Given the description of an element on the screen output the (x, y) to click on. 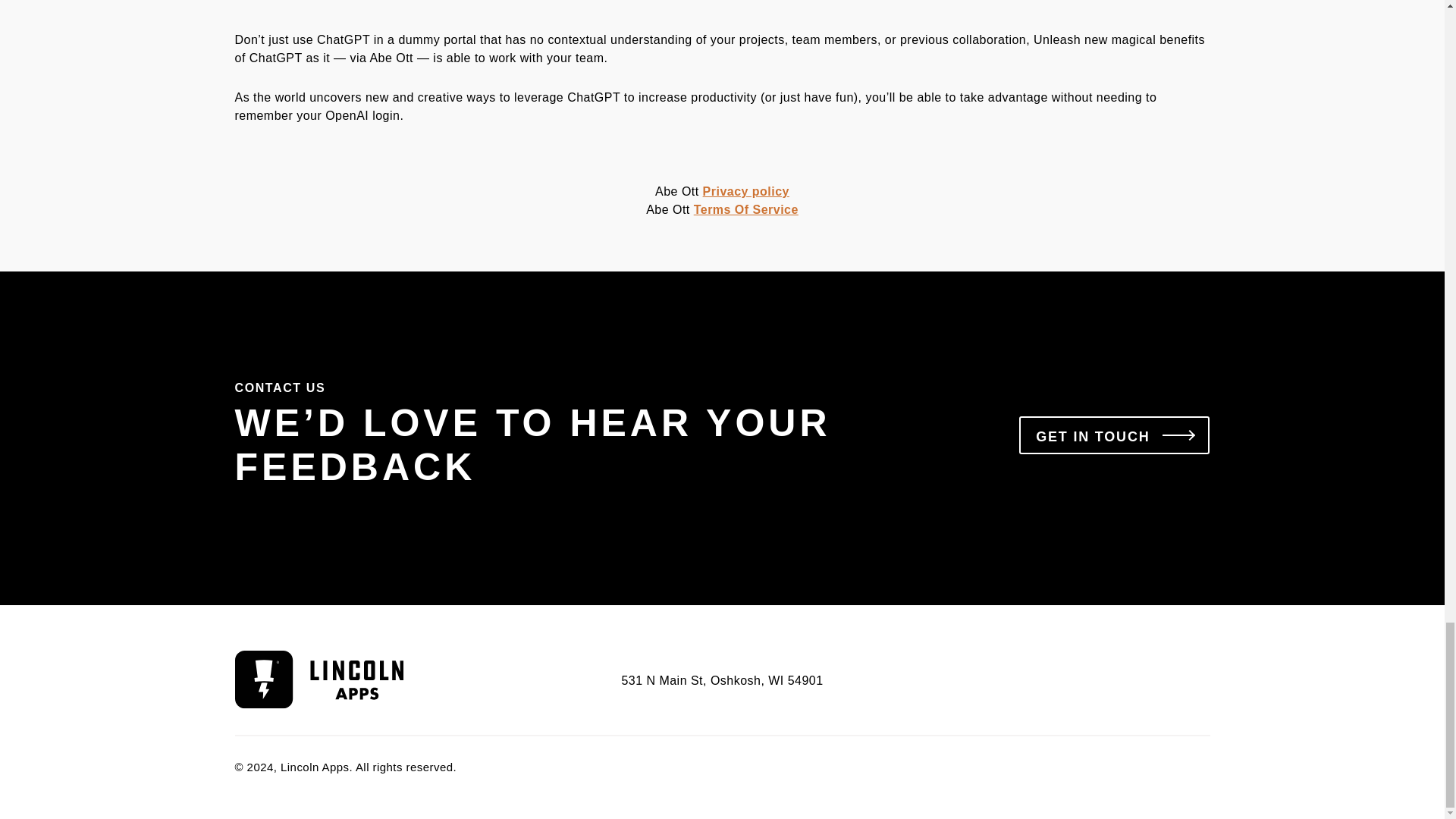
GET IN TOUCH (1114, 435)
Privacy policy (746, 191)
Terms Of Service (745, 209)
